Given the description of an element on the screen output the (x, y) to click on. 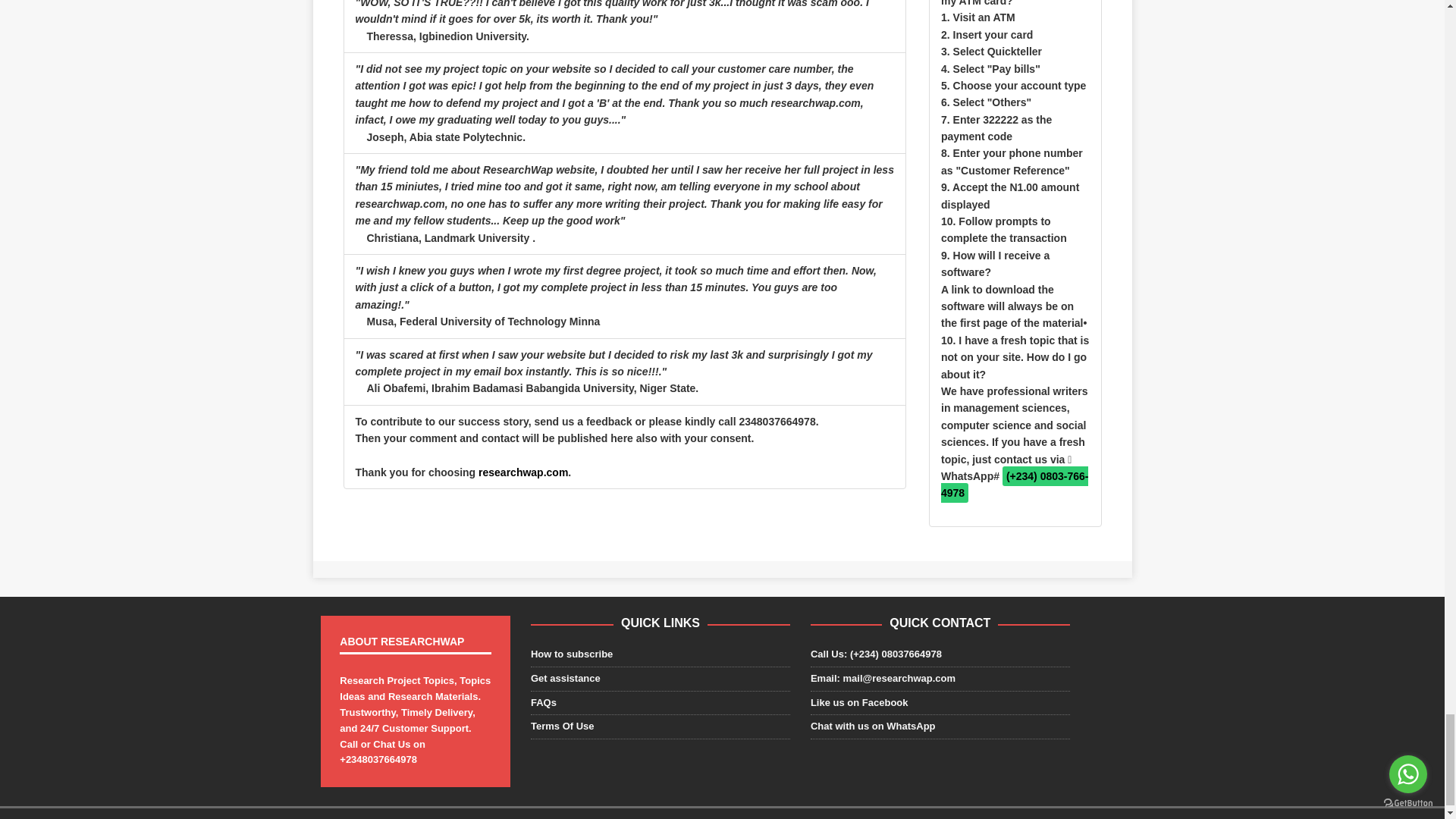
researchwap.com (523, 472)
